Given the description of an element on the screen output the (x, y) to click on. 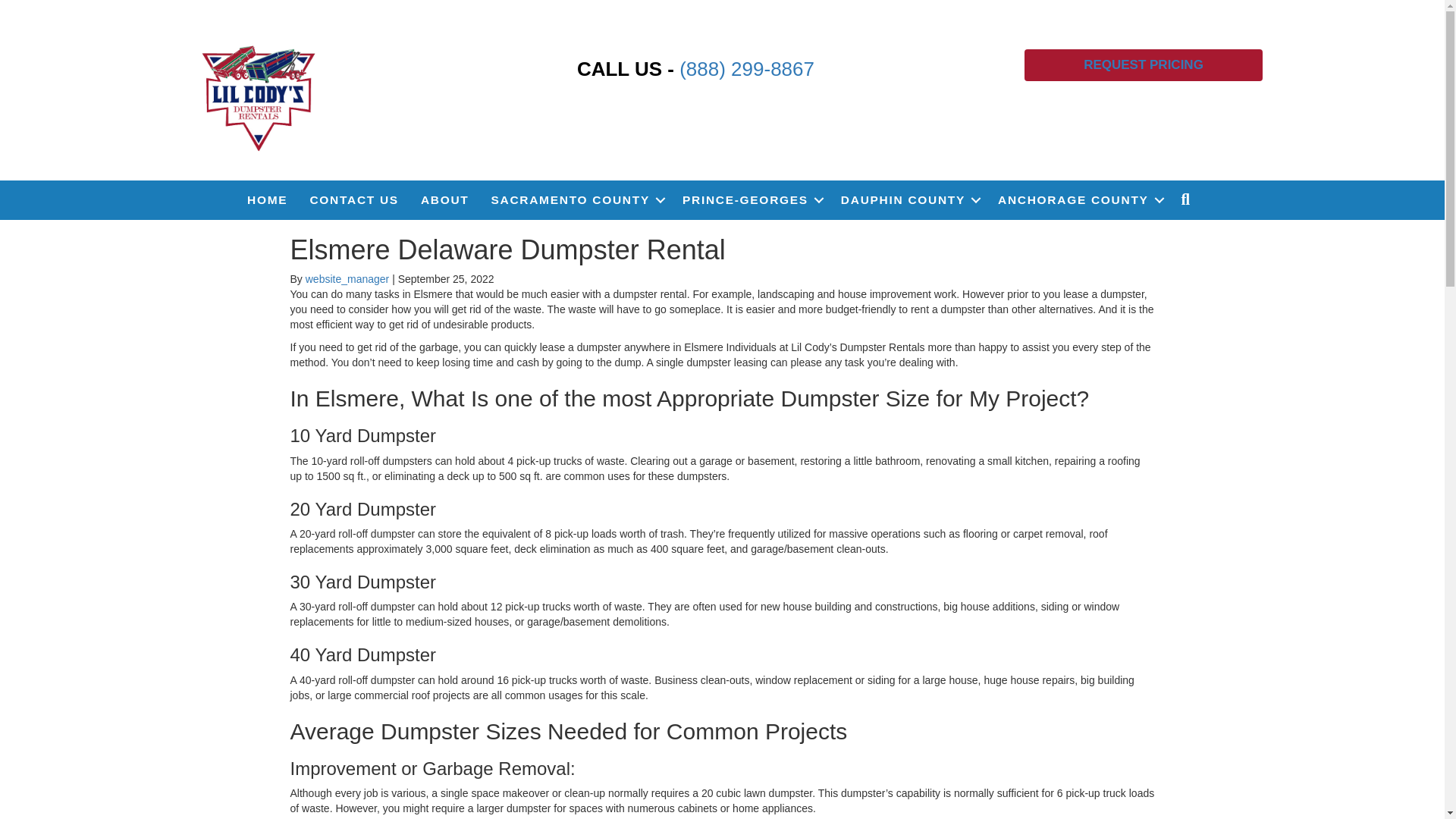
DAUPHIN COUNTY (908, 199)
Skip to content (34, 6)
SACRAMENTO COUNTY (575, 199)
CONTACT US (353, 199)
PRINCE-GEORGES (750, 199)
HOME (266, 199)
REQUEST PRICING (1144, 65)
ANCHORAGE COUNTY (1078, 199)
lilcodysdumpsters (258, 95)
ABOUT (445, 199)
